Given the description of an element on the screen output the (x, y) to click on. 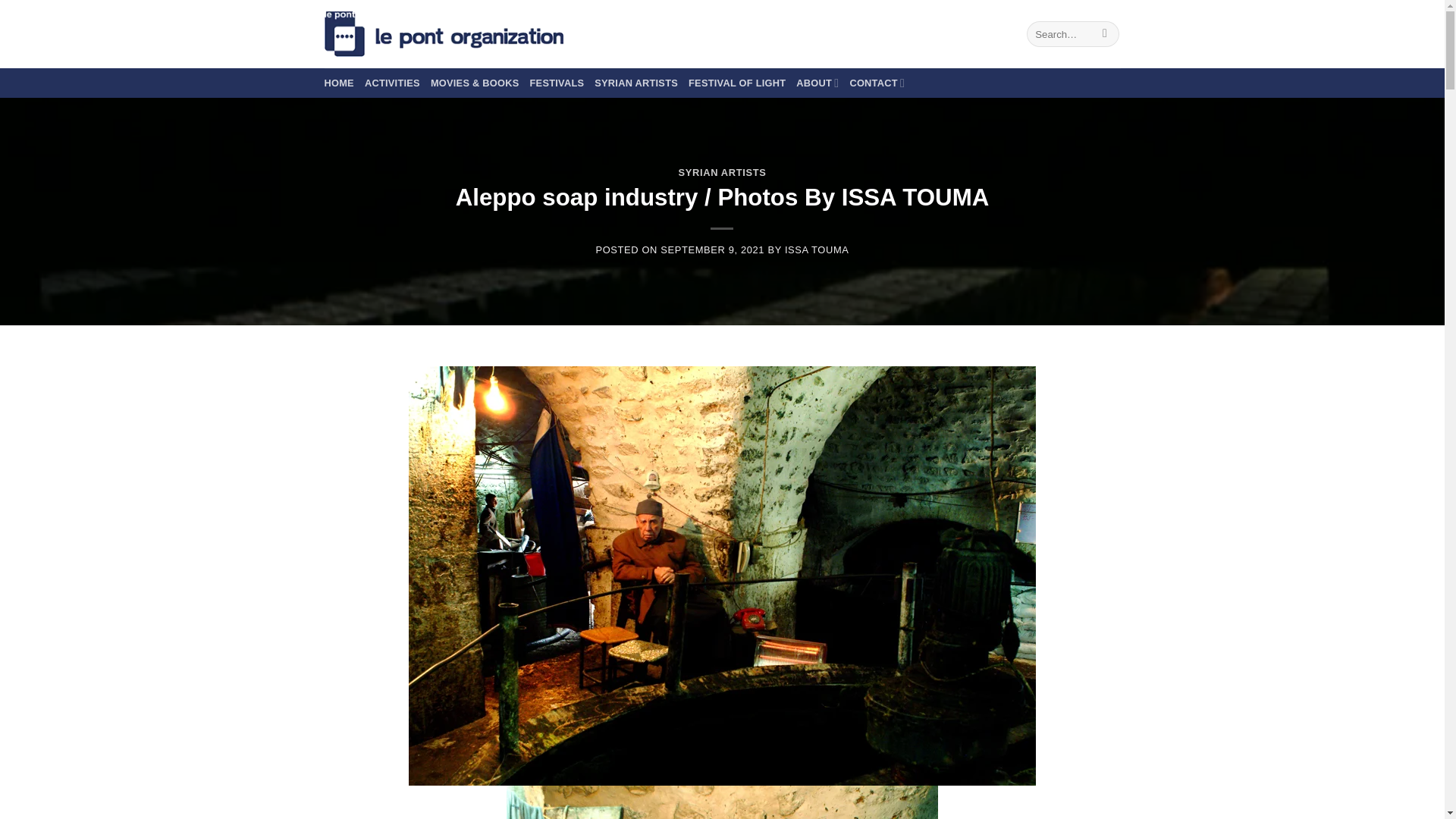
FESTIVAL OF LIGHT (737, 83)
ABOUT (817, 82)
SEPTEMBER 9, 2021 (712, 249)
SYRIAN ARTISTS (636, 83)
HOME (338, 83)
CONTACT (876, 82)
ISSA TOUMA (816, 249)
SYRIAN ARTISTS (722, 172)
ACTIVITIES (392, 83)
FESTIVALS (557, 83)
